Given the description of an element on the screen output the (x, y) to click on. 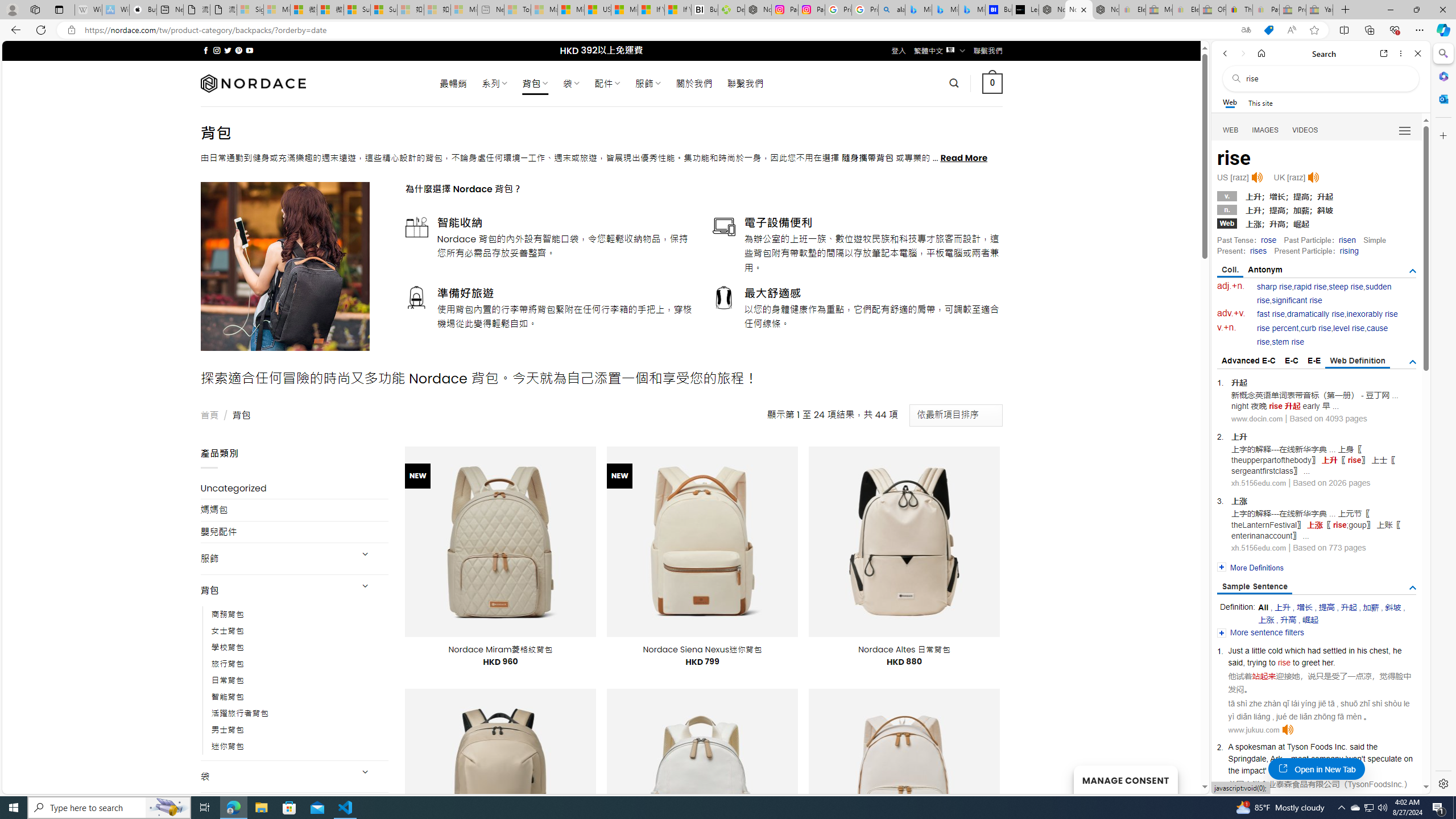
Top Stories - MSN - Sleeping (517, 9)
. (1401, 783)
Marine life - MSN - Sleeping (543, 9)
meat (1299, 758)
Microsoft Bing Travel - Shangri-La Hotel Bangkok (971, 9)
rose (1268, 239)
